Given the description of an element on the screen output the (x, y) to click on. 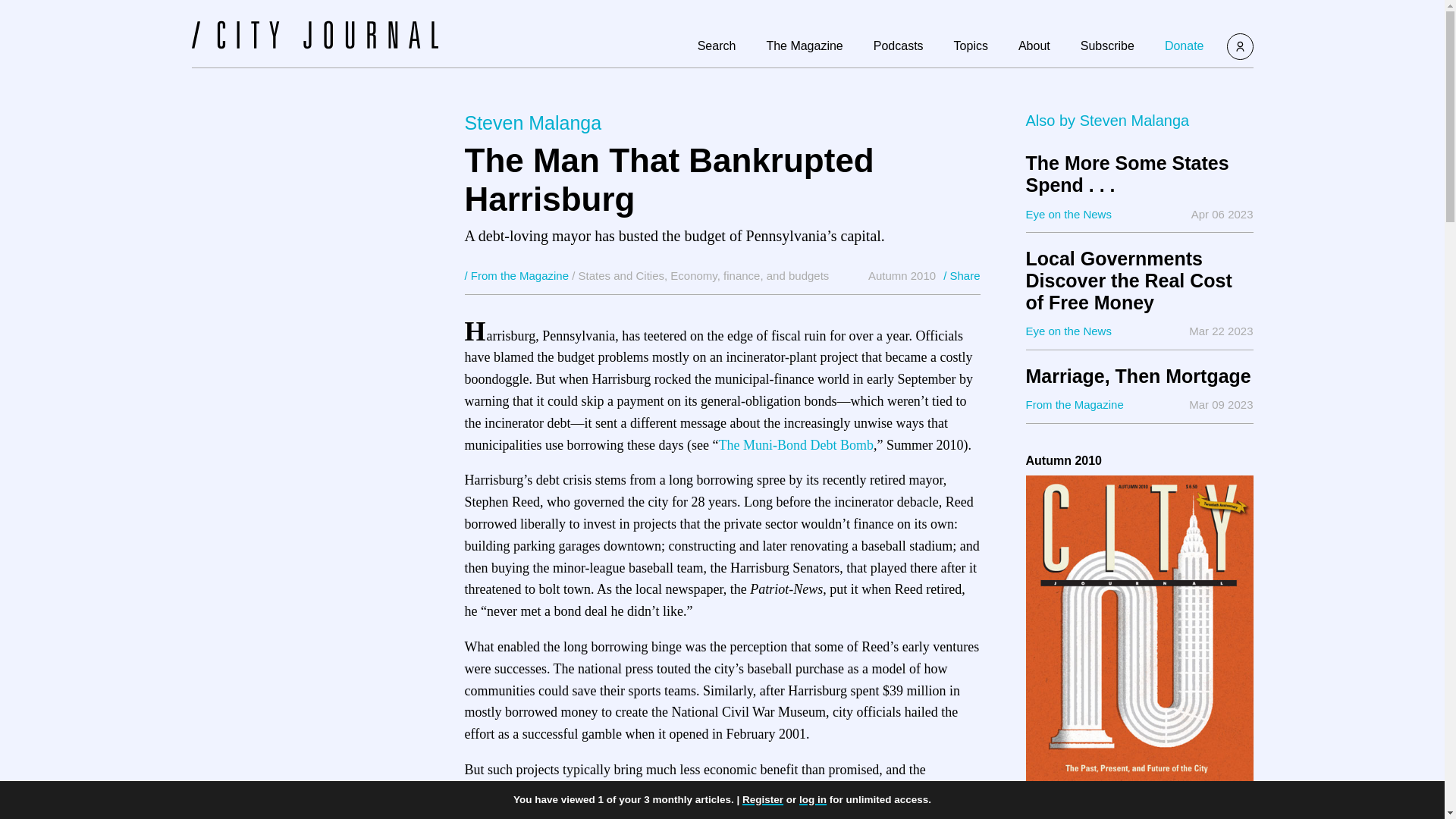
Donate (1184, 46)
Podcasts (898, 46)
Subscribe (1107, 46)
States and Cities (620, 275)
Topics (970, 46)
Autumn 2010 (901, 275)
Local Governments Discover the Real Cost of Free Money (1138, 280)
Search (716, 46)
About (1033, 46)
Economy, finance, and budgets (748, 275)
Marriage, Then Mortgage (1138, 376)
Steven Malanga (532, 122)
The More Some States Spend . . . (1138, 174)
Steven Malanga (1134, 120)
The Muni-Bond Debt Bomb (795, 444)
